Given the description of an element on the screen output the (x, y) to click on. 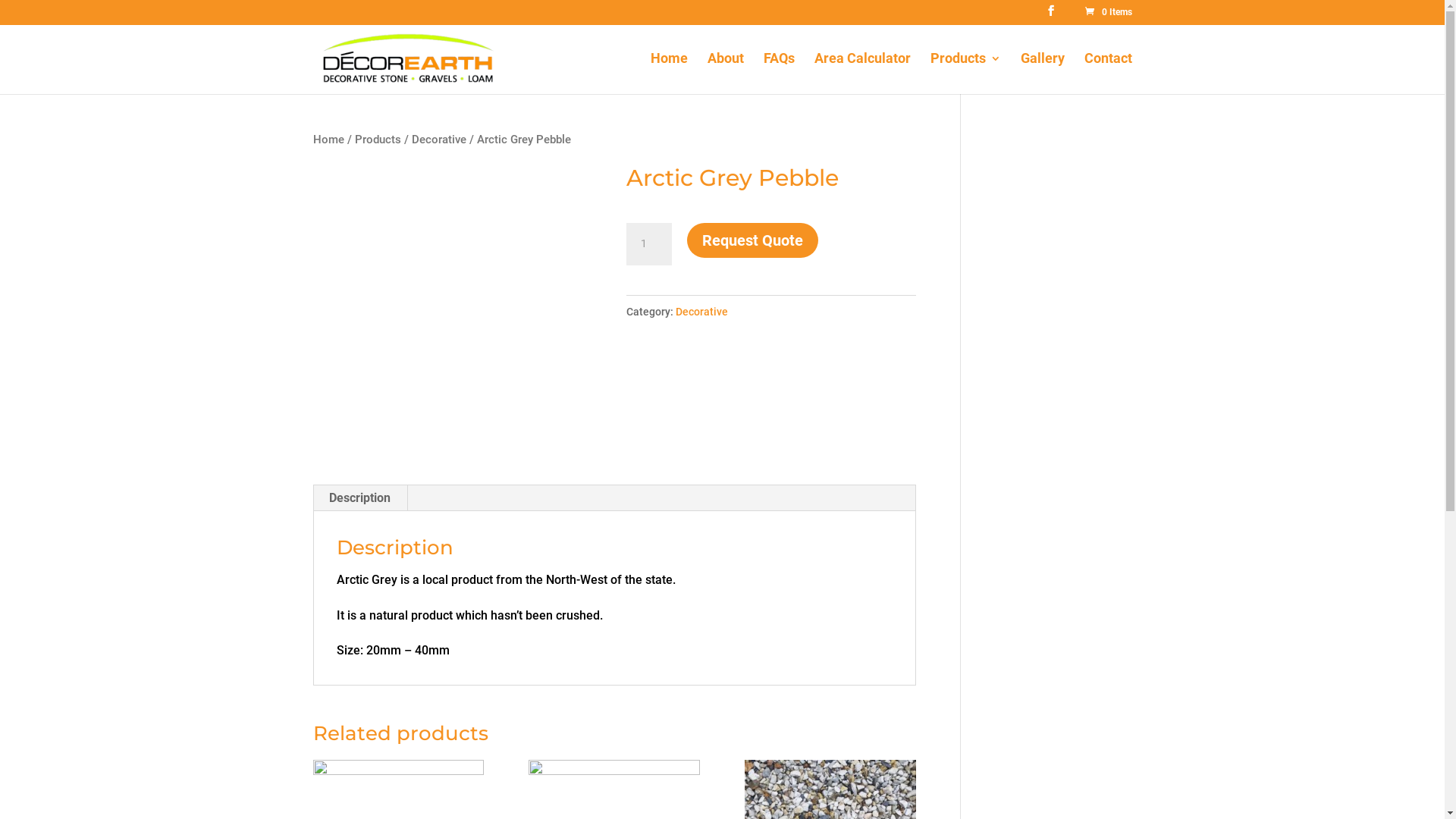
FAQs Element type: text (777, 73)
Request Quote Element type: text (752, 239)
Home Element type: text (327, 139)
Decorative Element type: text (438, 139)
Description Element type: text (359, 498)
Gallery Element type: text (1042, 73)
Decorative Element type: text (701, 311)
Area Calculator Element type: text (862, 73)
About Element type: text (724, 73)
Contact Element type: text (1108, 73)
Products Element type: text (964, 73)
Home Element type: text (668, 73)
Products Element type: text (377, 139)
0 Items Element type: text (1107, 11)
